Given the description of an element on the screen output the (x, y) to click on. 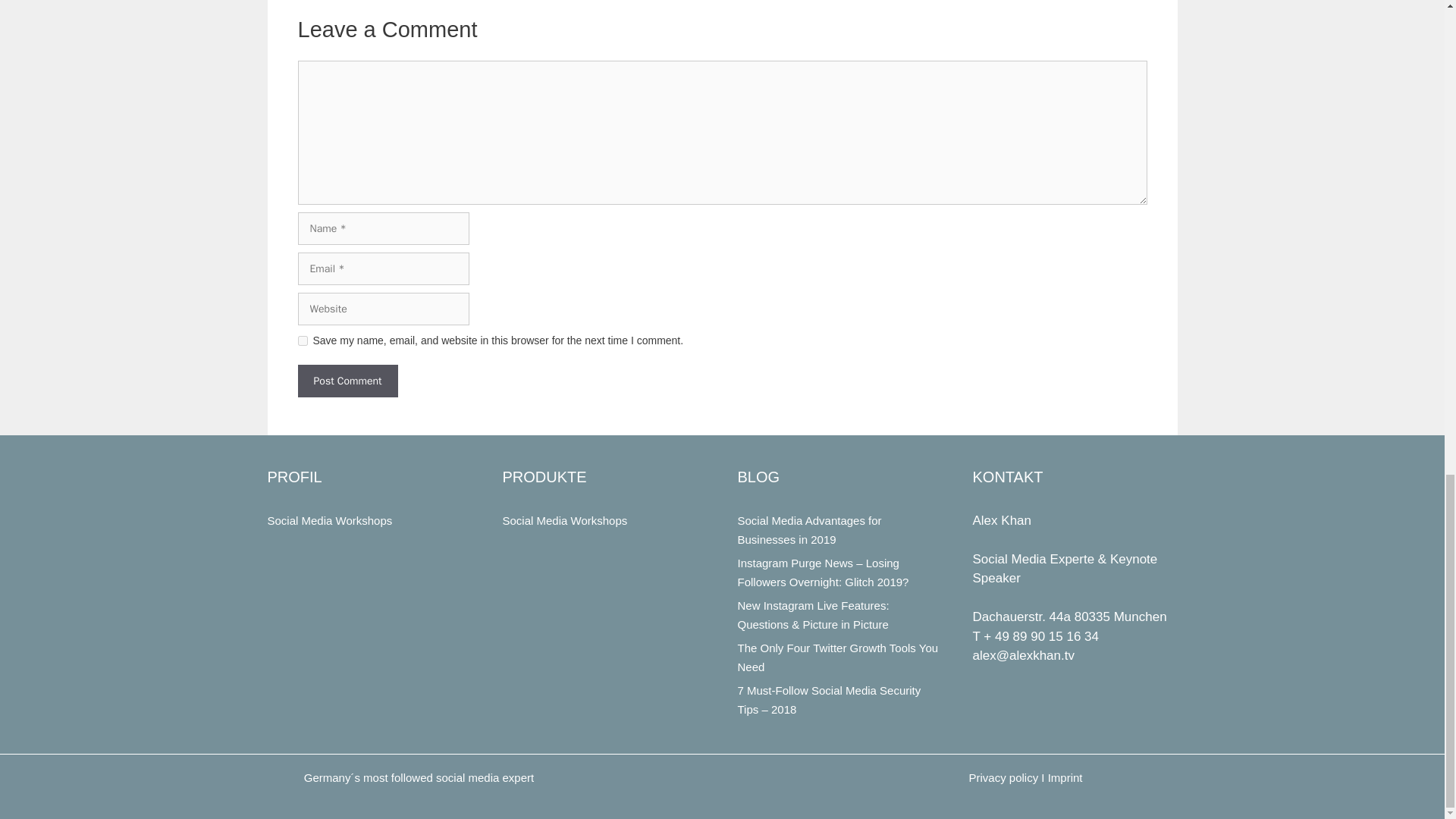
Post Comment (347, 380)
Post Comment (347, 380)
Social Media Workshops (328, 520)
yes (302, 340)
